Given the description of an element on the screen output the (x, y) to click on. 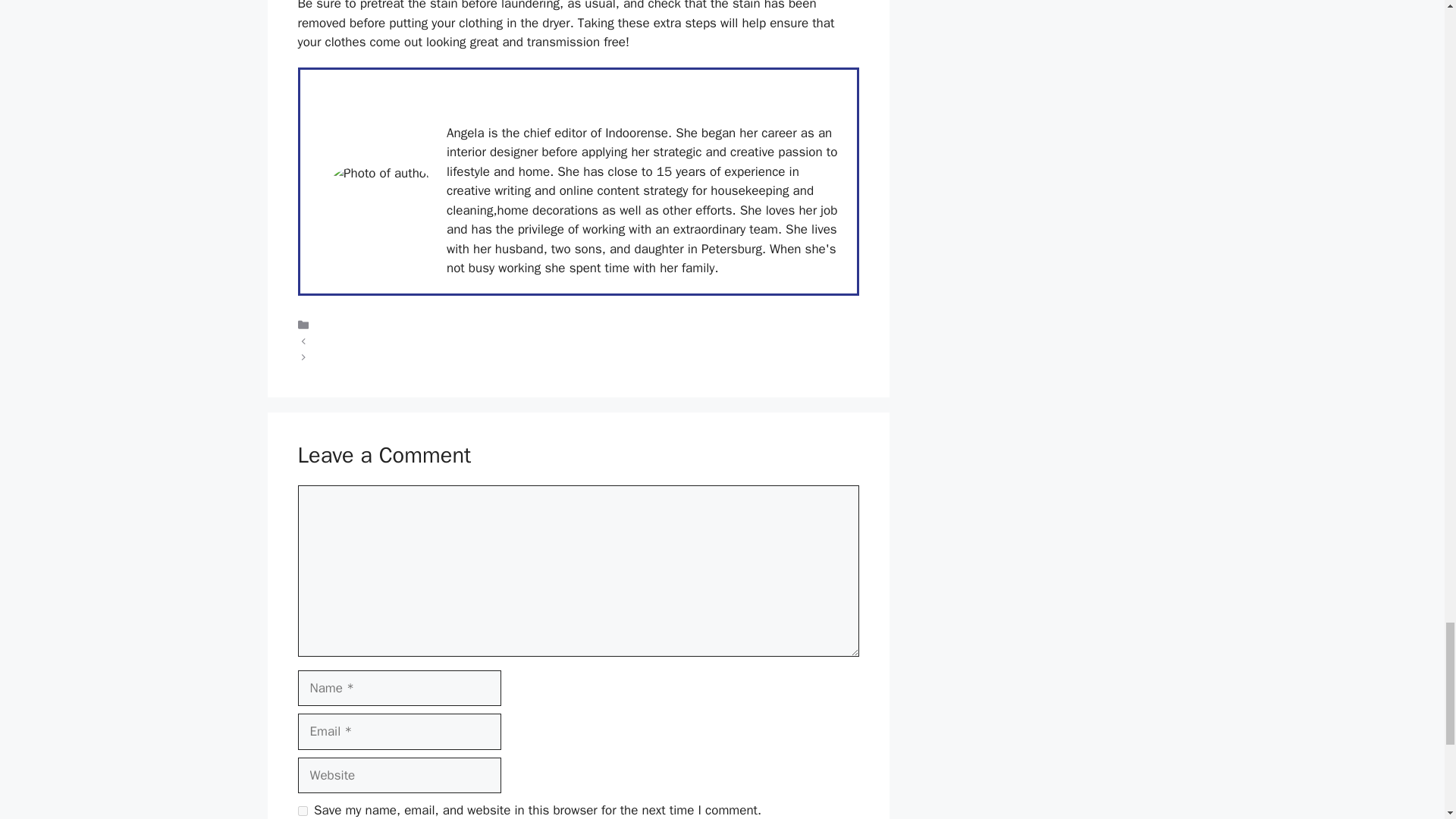
Clothes (333, 325)
Angela Ervin (480, 94)
How to Clean Mattress Without Vacuum (410, 357)
How to Get Hand Sanitizer Out of Clothes (414, 341)
yes (302, 810)
